Given the description of an element on the screen output the (x, y) to click on. 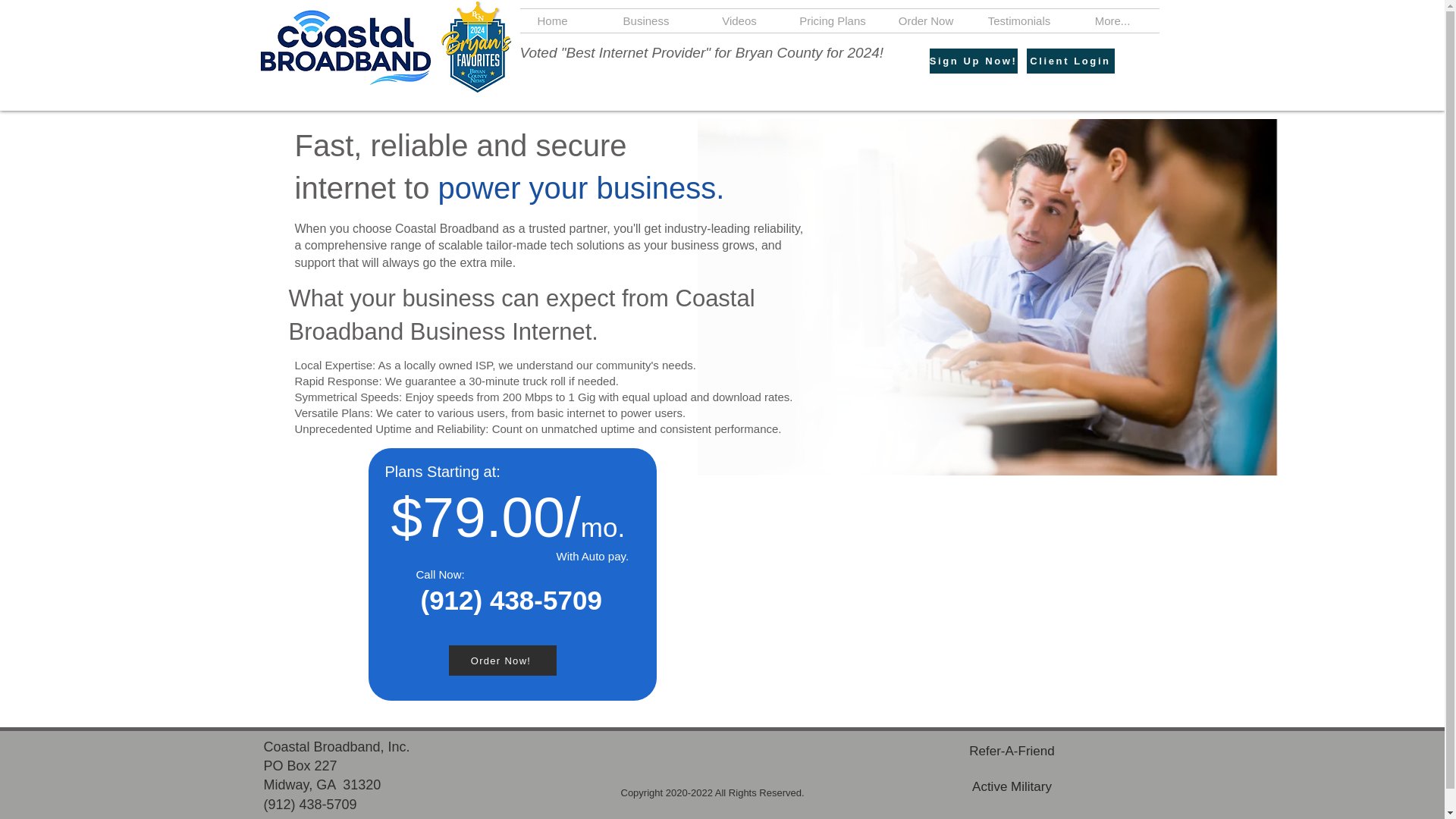
Business (645, 20)
Refer-A-Friend (1011, 751)
Sign Up Now! (973, 60)
Home (551, 20)
Videos (739, 20)
Client Login (1070, 60)
Order Now! (502, 660)
Pricing Plans (832, 20)
Active Military (1011, 787)
Testimonials (1018, 20)
Order Now (925, 20)
